Given the description of an element on the screen output the (x, y) to click on. 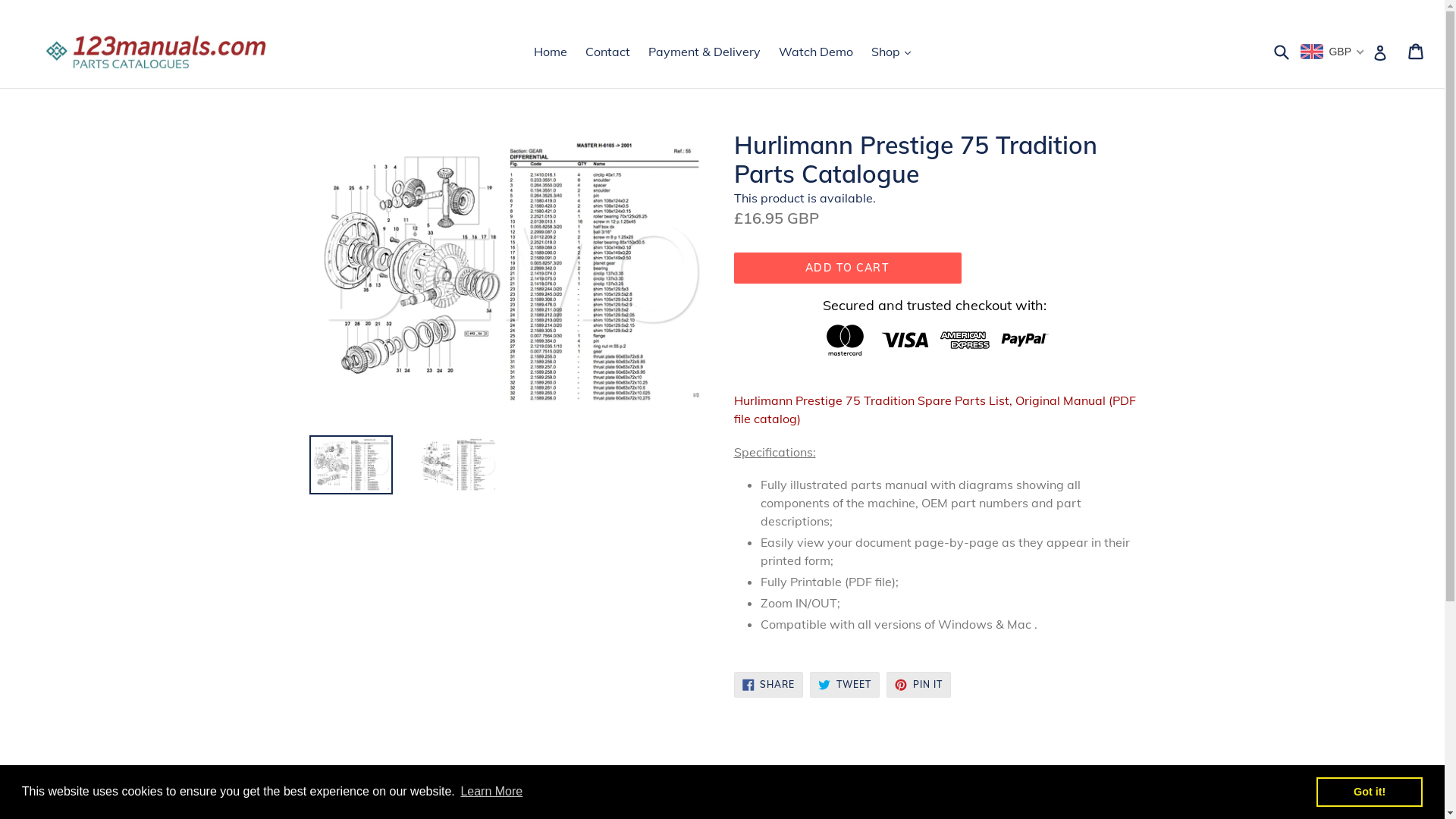
PIN IT
PIN ON PINTEREST Element type: text (918, 684)
Cart
Cart Element type: text (1416, 51)
Submit Element type: text (1280, 50)
SHARE
SHARE ON FACEBOOK Element type: text (768, 684)
Contact Element type: text (607, 51)
ADD TO CART Element type: text (847, 268)
Log in Element type: text (1379, 51)
Terms and Conditions Element type: text (370, 797)
Payment & Delivery Element type: text (704, 51)
Watch Demo Element type: text (815, 51)
Learn More Element type: text (491, 791)
TWEET
TWEET ON TWITTER Element type: text (844, 684)
Got it! Element type: text (1369, 791)
Home Element type: text (550, 51)
Search Element type: text (535, 797)
